Given the description of an element on the screen output the (x, y) to click on. 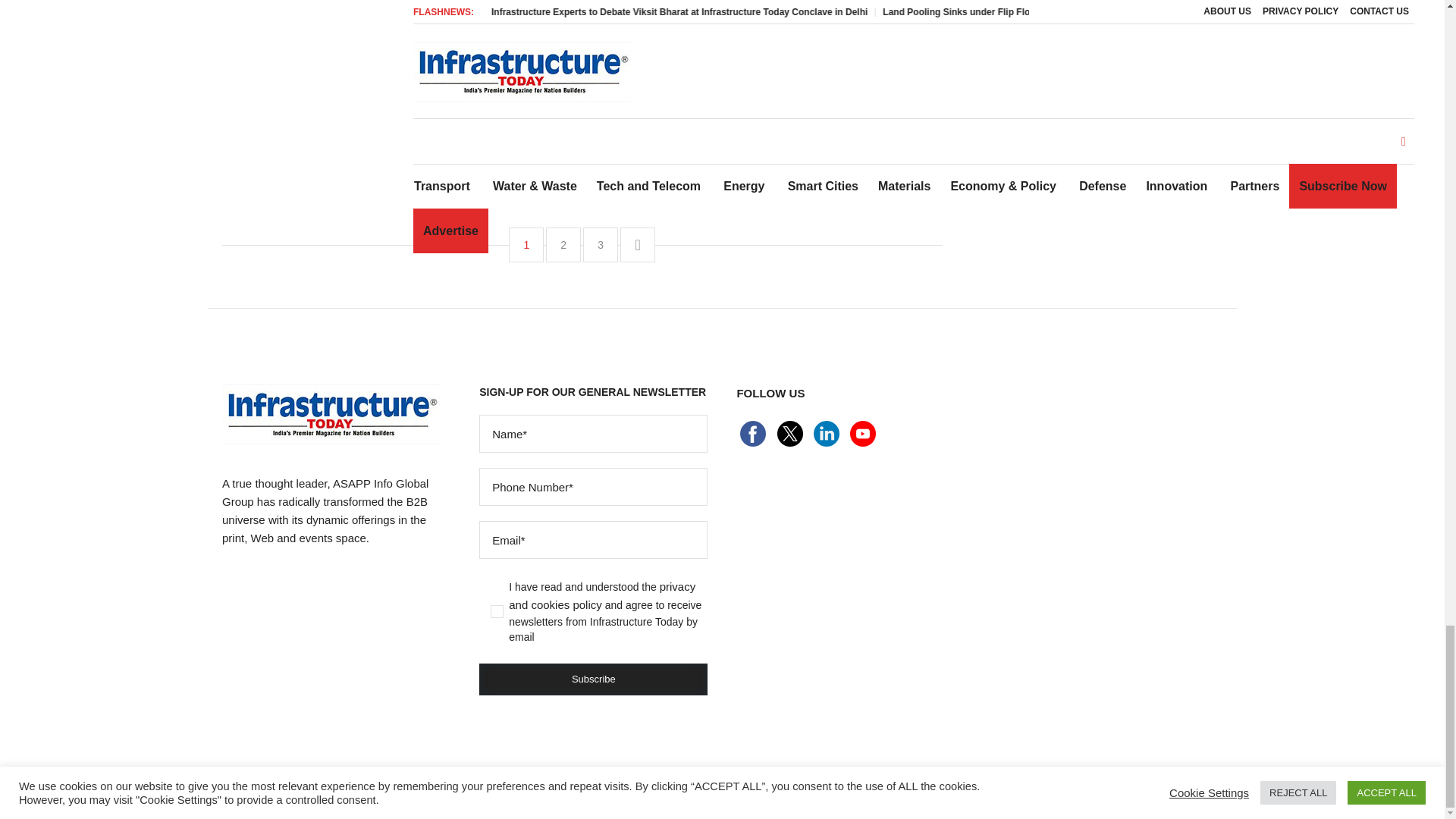
Subscribe (593, 679)
